Given the description of an element on the screen output the (x, y) to click on. 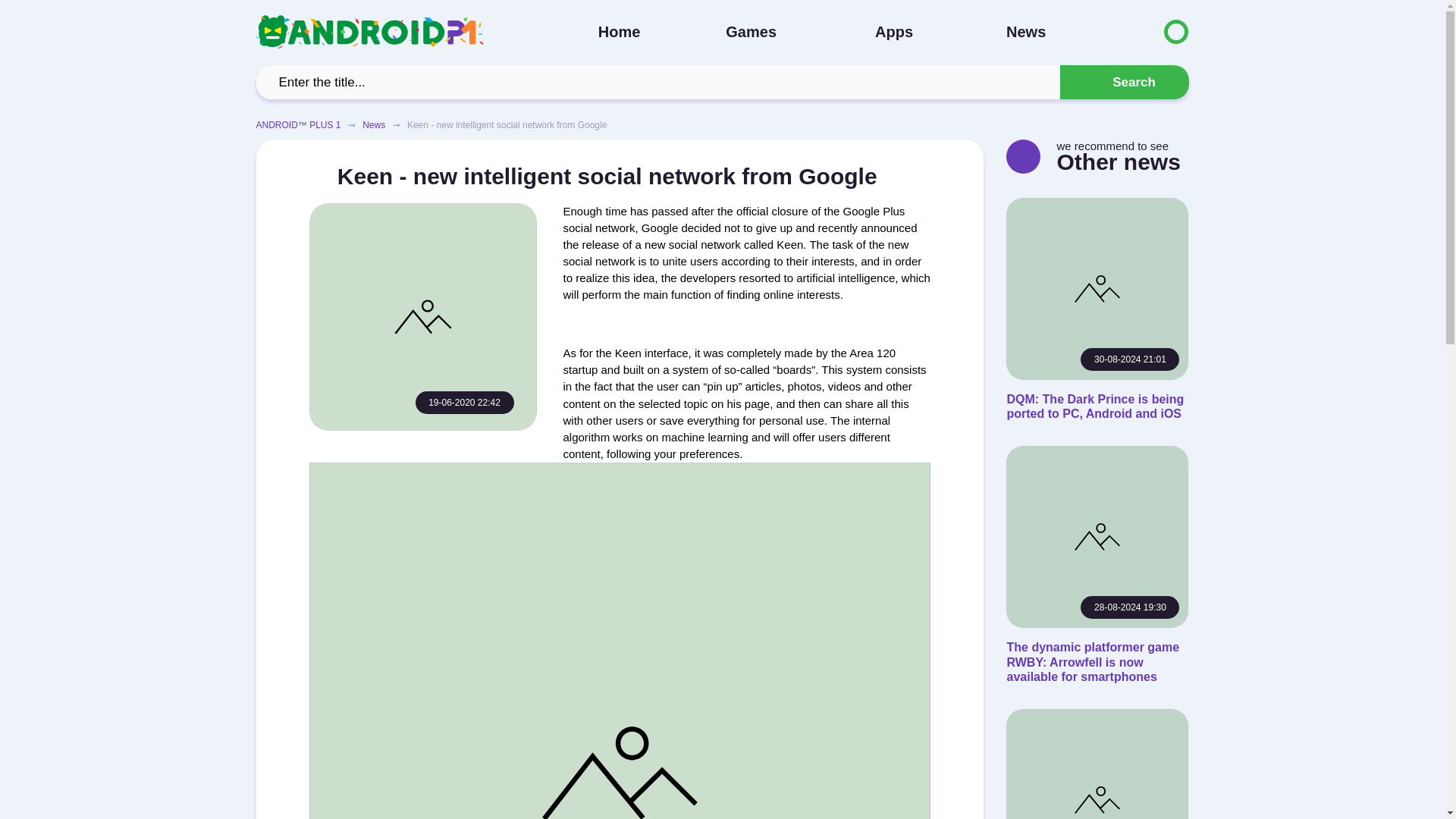
News (1025, 32)
Games (750, 32)
Home (619, 32)
Search (1124, 82)
News (373, 124)
Apps (893, 32)
